Given the description of an element on the screen output the (x, y) to click on. 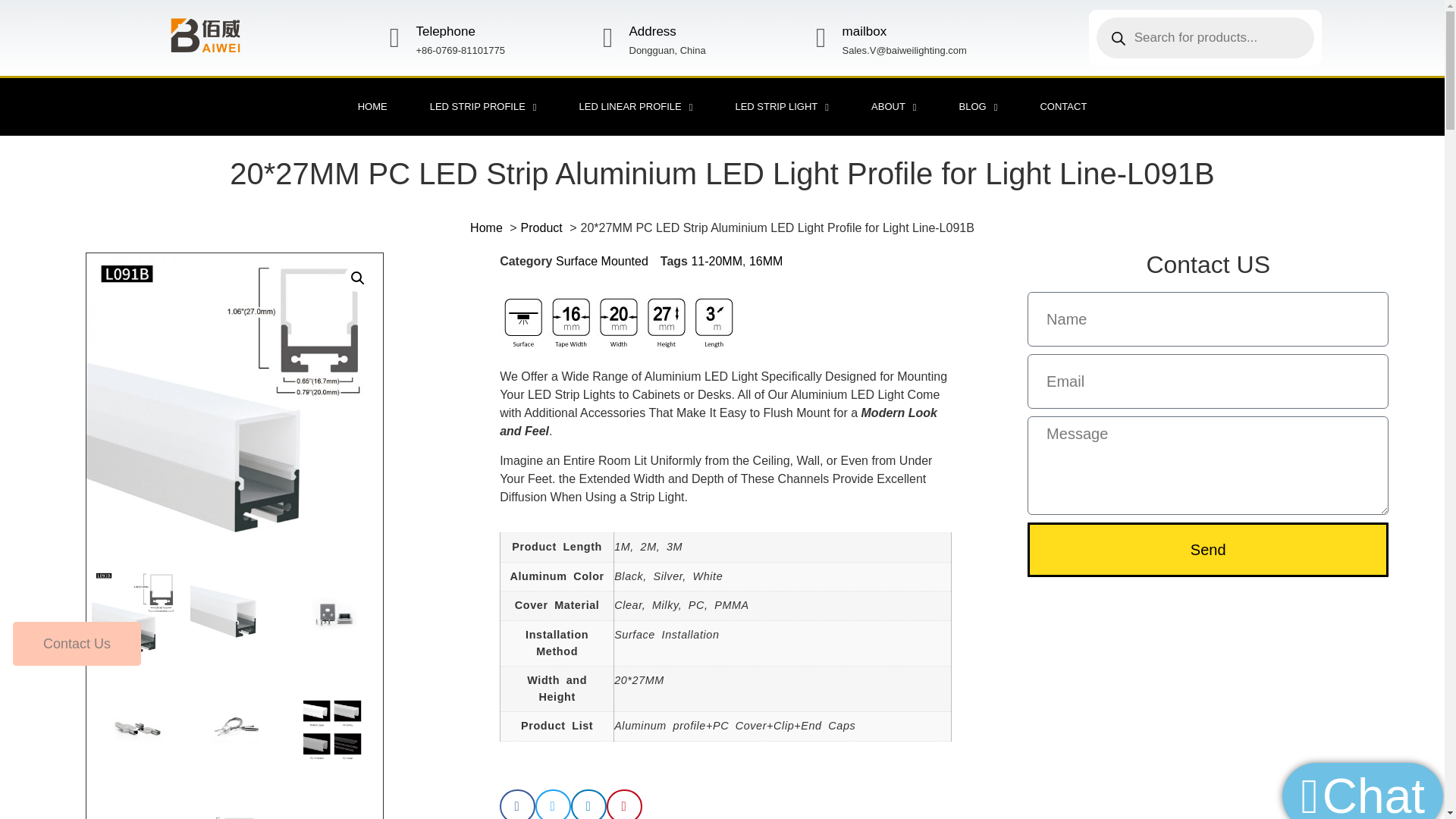
HOME (372, 106)
LED STRIP LIGHT (781, 106)
ABOUT (893, 106)
LED LINEAR PROFILE (635, 106)
LED STRIP PROFILE (483, 106)
BLOG (978, 106)
